Given the description of an element on the screen output the (x, y) to click on. 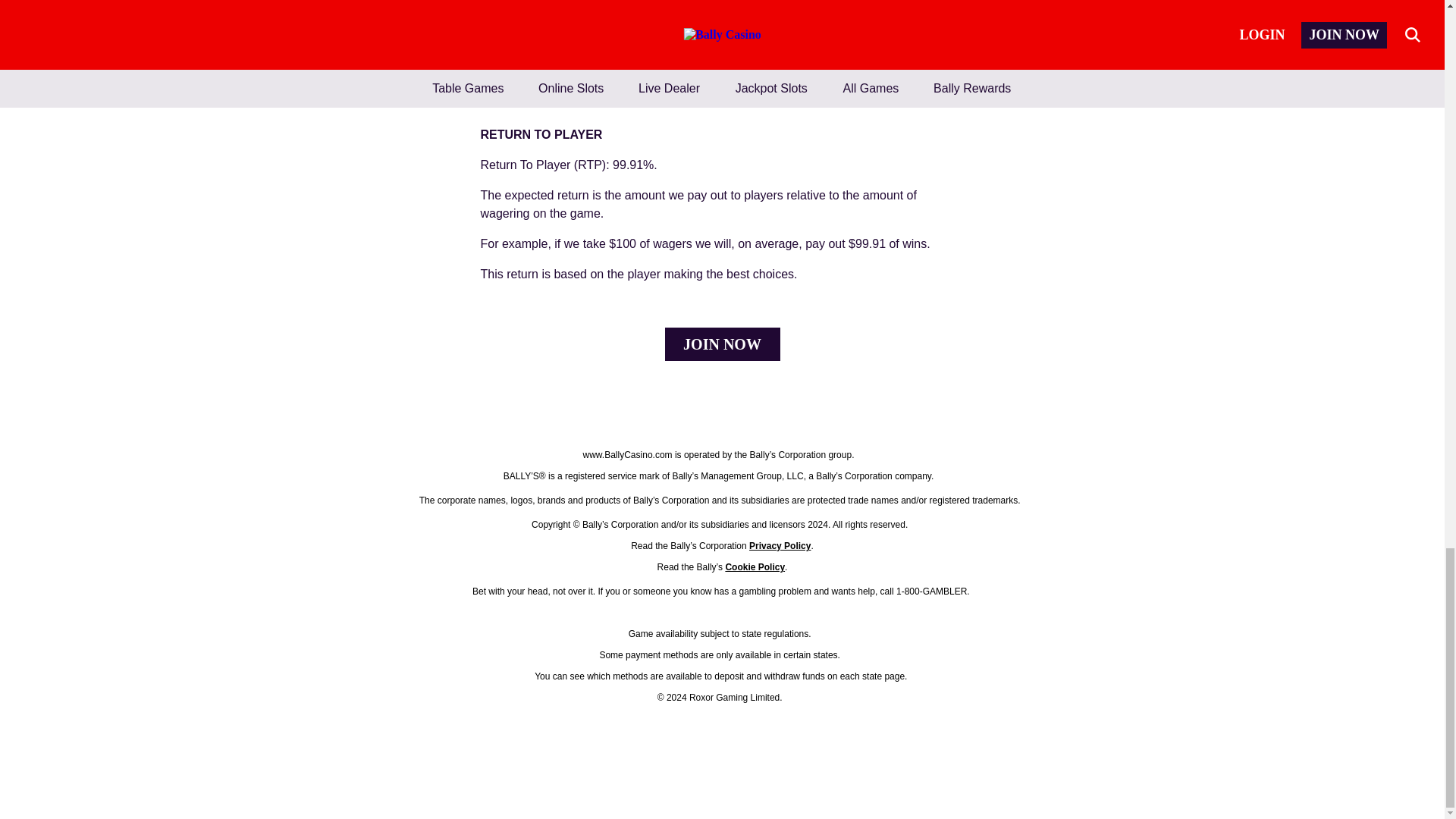
Cookie Policy (754, 567)
Privacy Policy (779, 545)
Join Now (720, 344)
JOIN NOW (720, 344)
